Given the description of an element on the screen output the (x, y) to click on. 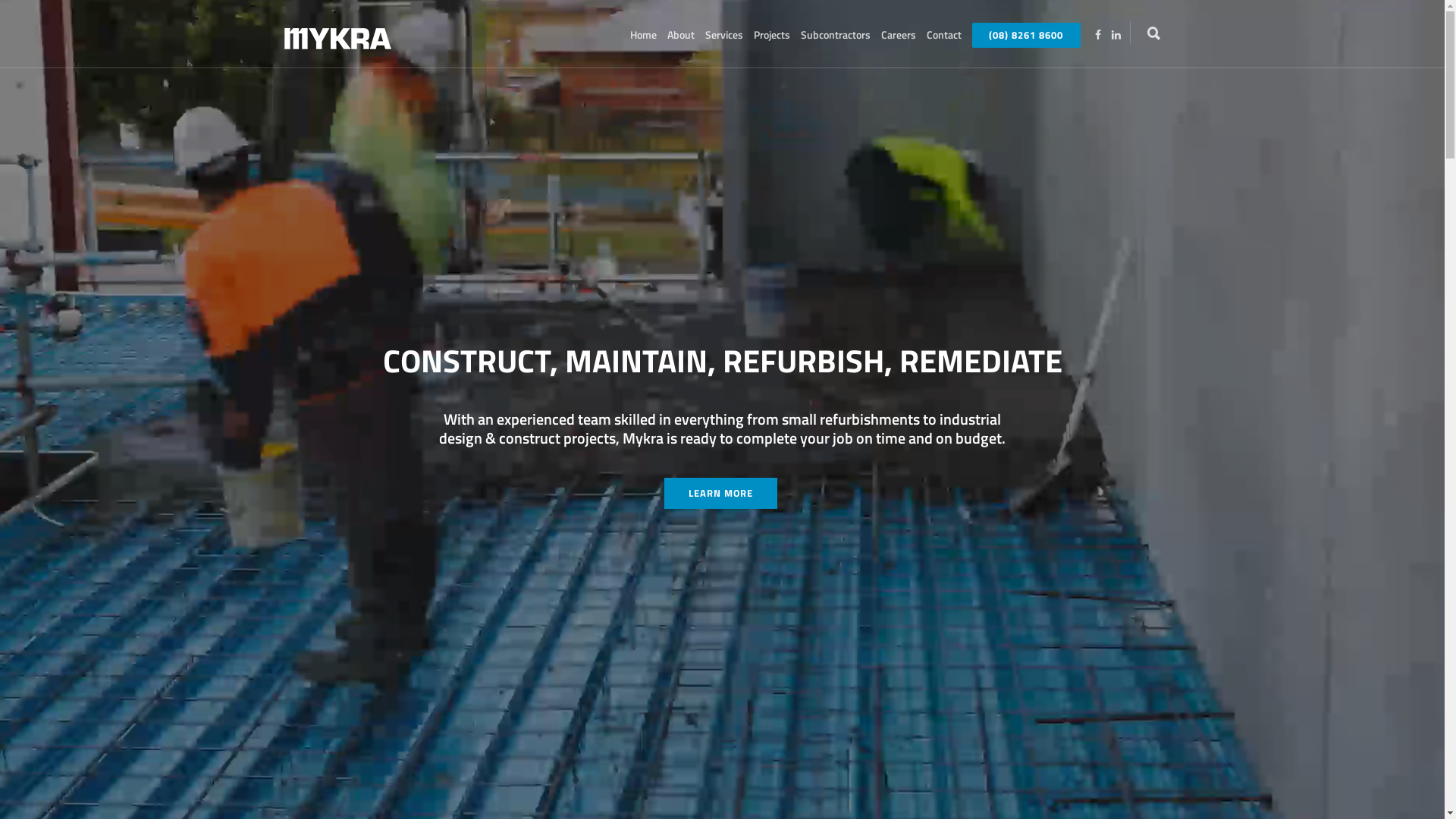
Subcontractors Element type: text (834, 34)
LEARN MORE Element type: text (720, 492)
Projects Element type: text (770, 34)
Services Element type: text (723, 34)
About Element type: text (680, 34)
Contact Element type: text (943, 34)
Home Element type: text (643, 34)
Careers Element type: text (897, 34)
(08) 8261 8600 Element type: text (1027, 36)
(08) 8261 8600 Element type: text (1026, 34)
